Given the description of an element on the screen output the (x, y) to click on. 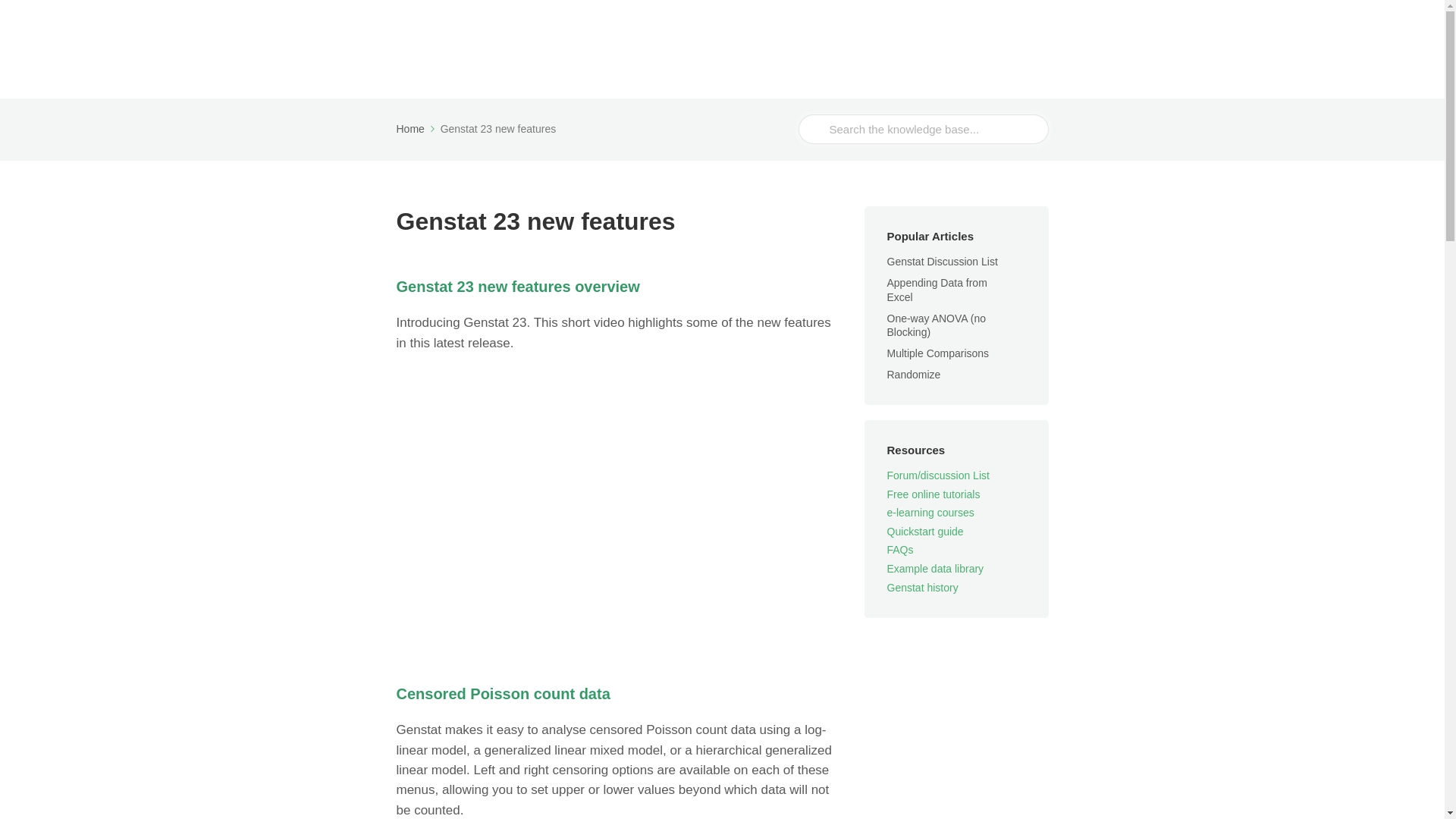
Free online tutorials (932, 494)
Quickstart guide (924, 531)
Appending Data from Excel (936, 289)
Home (416, 128)
FAQs (727, 35)
Genstat history (922, 587)
Tutorials (539, 35)
Example data library (935, 568)
Genstat History (565, 62)
Download Genstat (958, 35)
e-learning courses (930, 512)
Quickstart Guide (641, 35)
FAQs (900, 549)
Genstat Discussion List (951, 261)
